Given the description of an element on the screen output the (x, y) to click on. 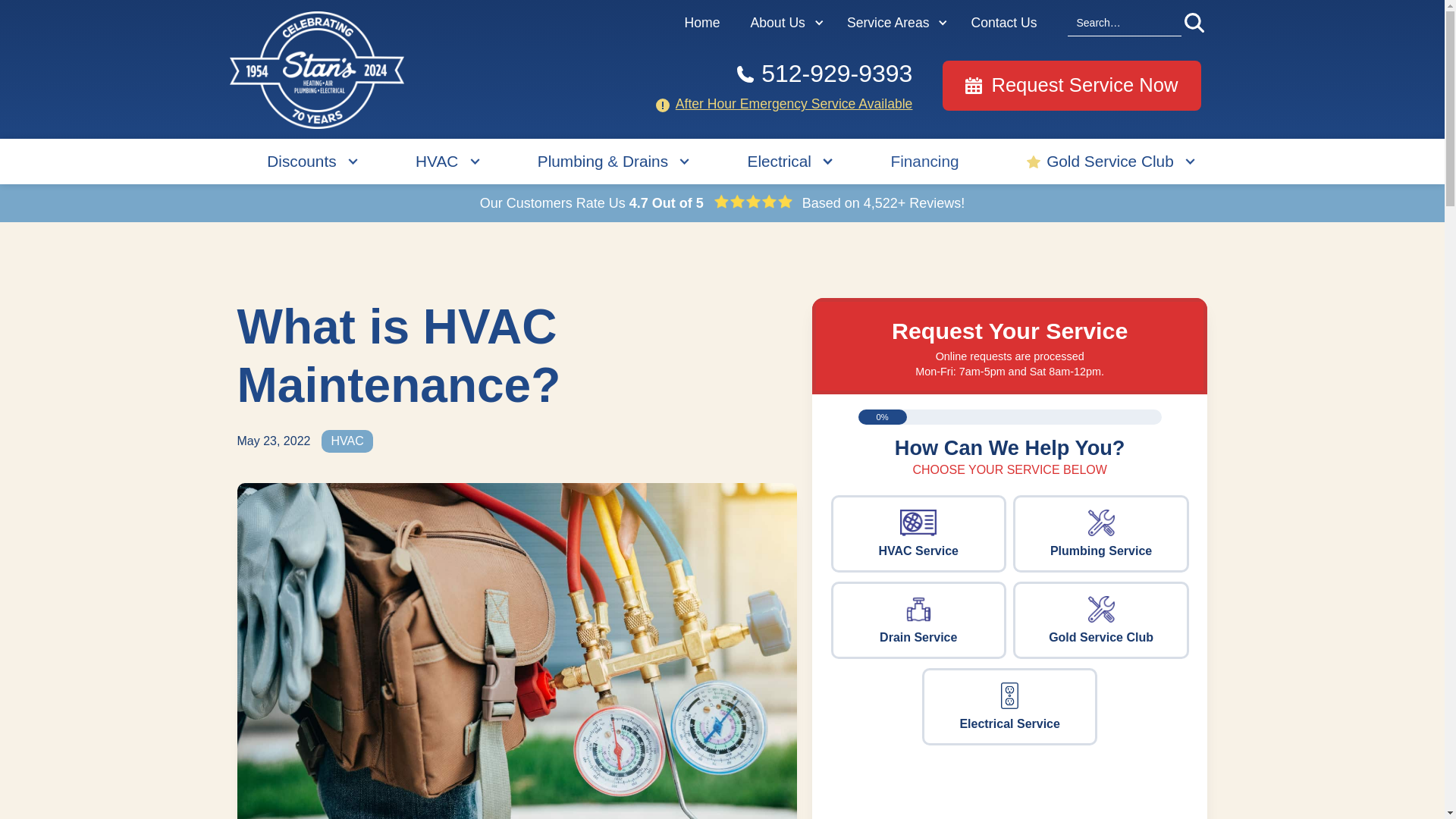
512-929-9393 (780, 73)
Request Service Now (1070, 85)
Contact Us (1003, 22)
HVAC (436, 160)
Home (702, 22)
Discounts (301, 160)
After Hour Emergency Service Available (793, 103)
